Given the description of an element on the screen output the (x, y) to click on. 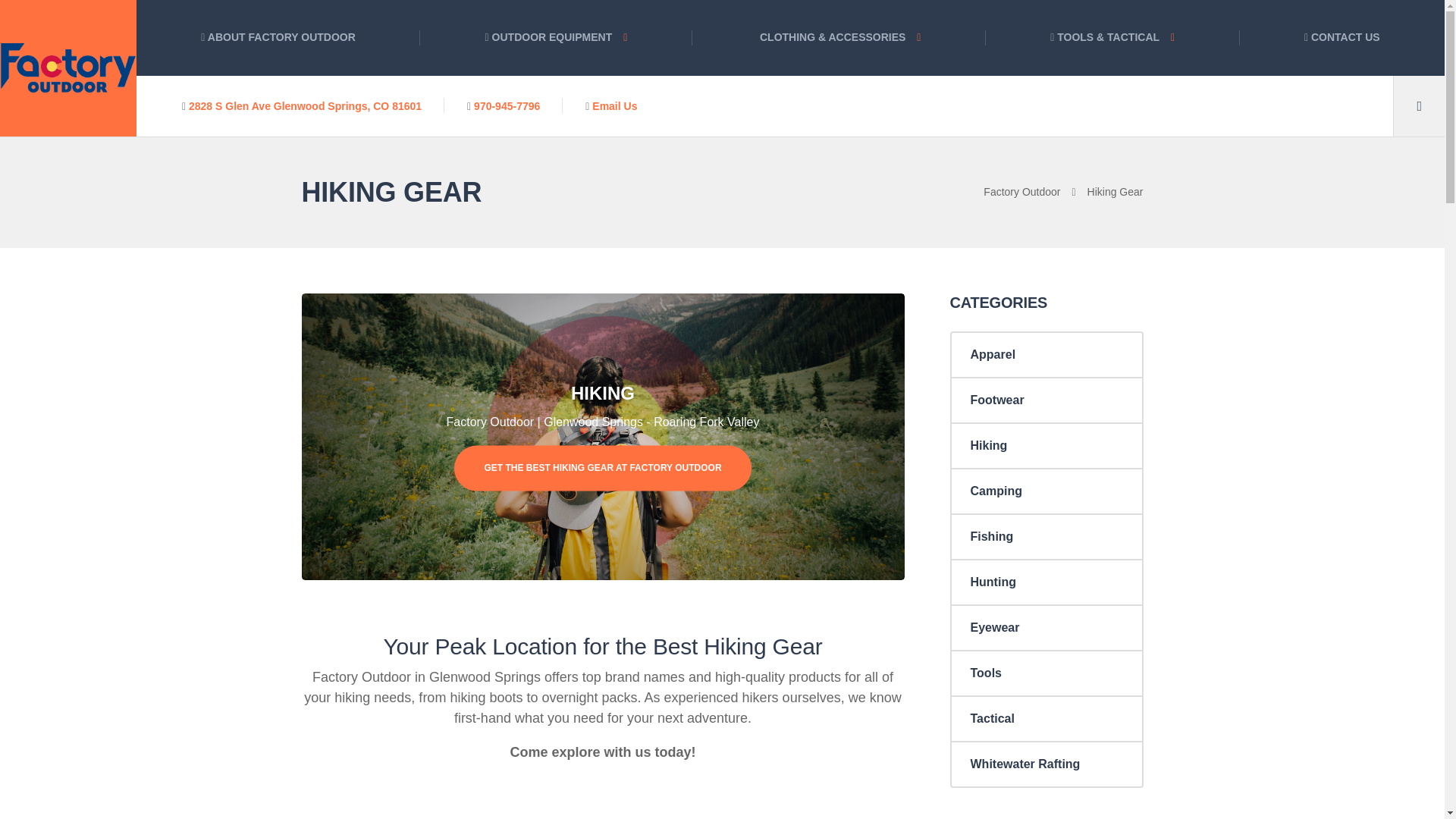
Footwear (1045, 399)
OUTDOOR EQUIPMENT (556, 38)
Eyewear (1045, 627)
Tactical (1045, 718)
Email Us (614, 105)
Camping (1045, 490)
Tools (1045, 672)
Factory Outdoor (1035, 191)
Whitewater Rafting (1045, 763)
Fishing (1045, 535)
